Given the description of an element on the screen output the (x, y) to click on. 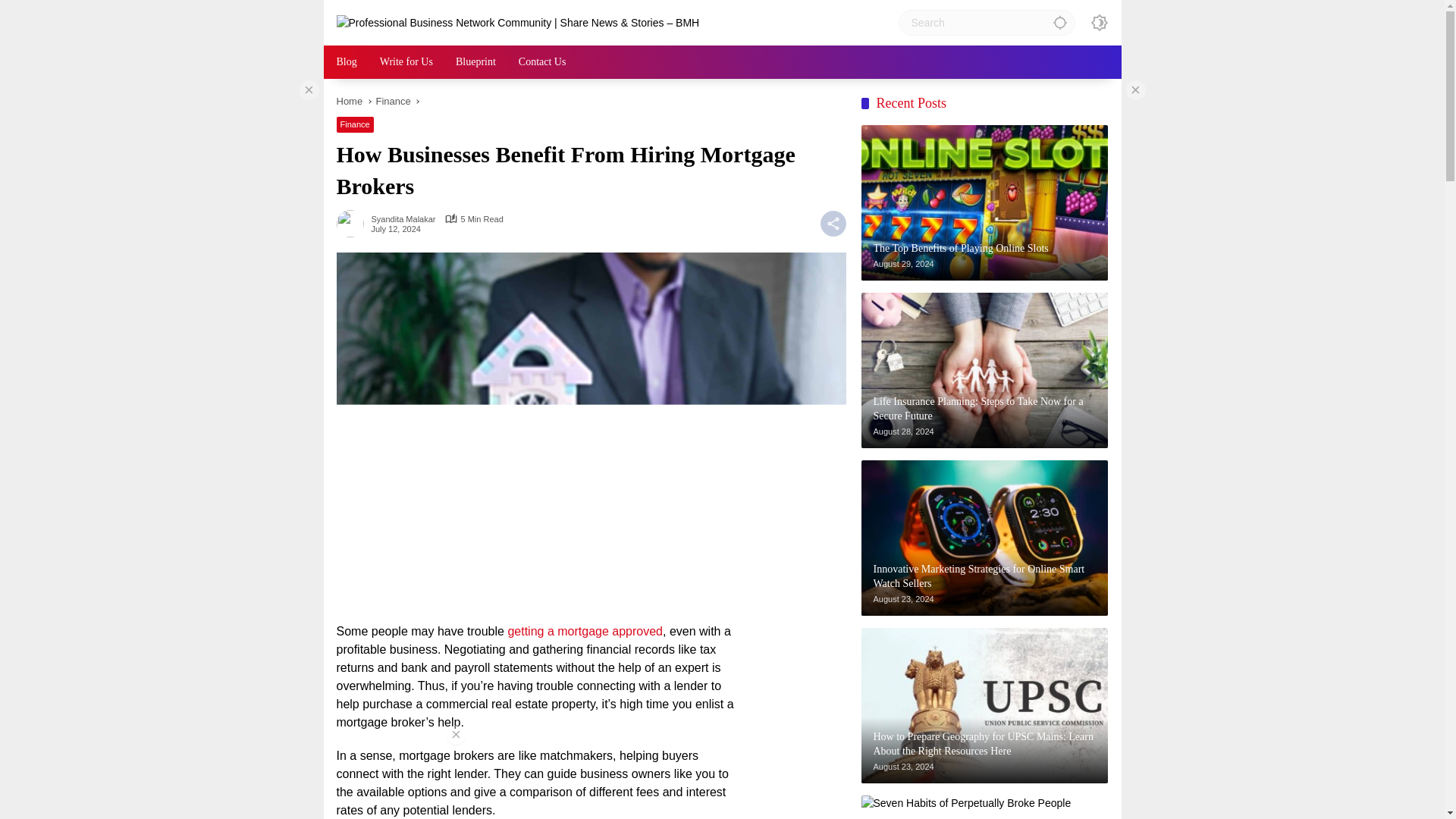
Syandita Malakar (403, 219)
Home (349, 101)
Blueprint (475, 61)
Finance (392, 101)
View all posts in Finance (355, 124)
Finance (355, 124)
getting a mortgage approved (584, 631)
close (308, 89)
Write for Us (406, 61)
